Given the description of an element on the screen output the (x, y) to click on. 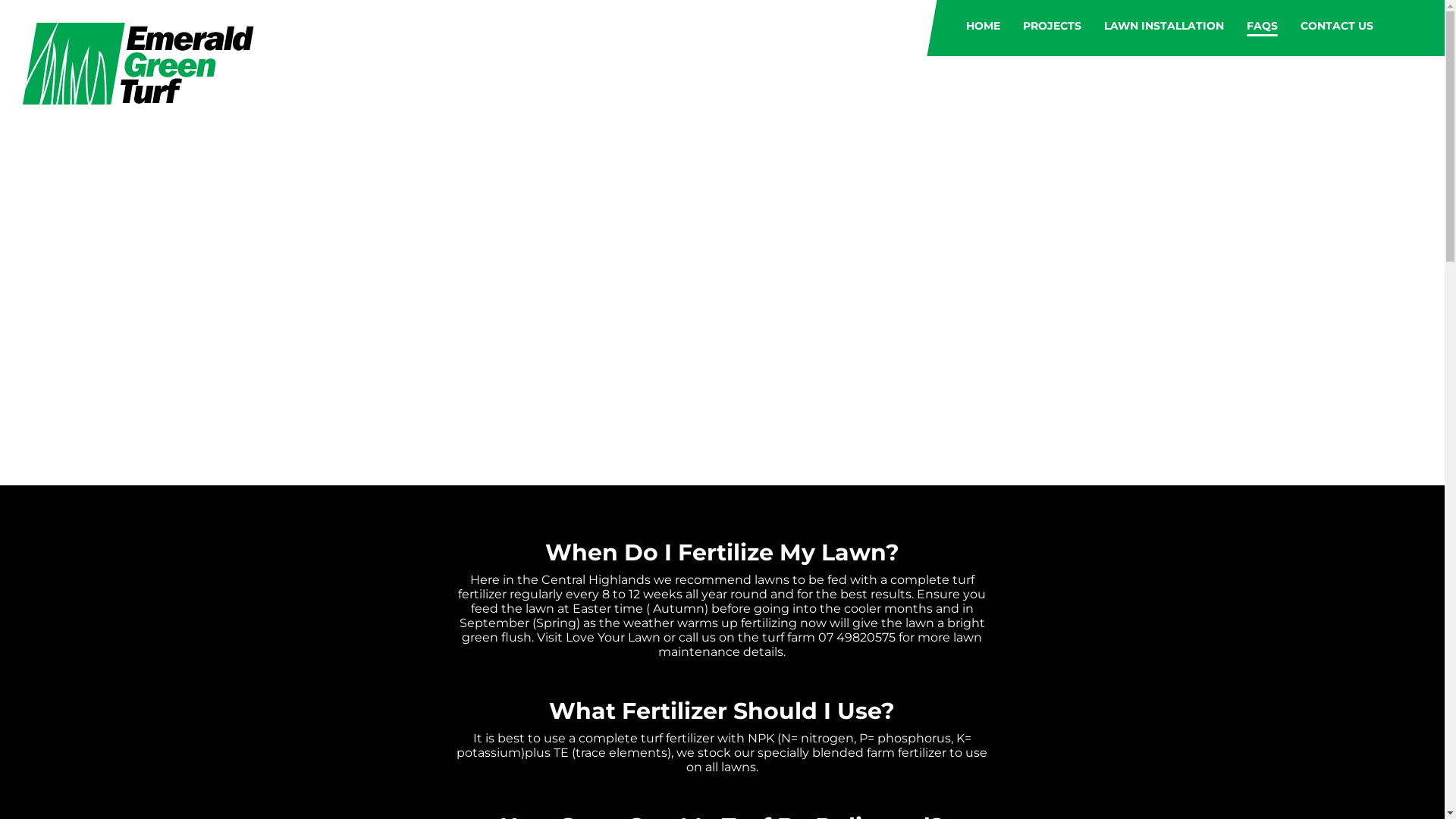
LAWN INSTALLATION Element type: text (1163, 16)
CONTACT US Element type: text (1336, 16)
HOME Element type: text (983, 16)
Turf grown, nurtured & harvested in Emerald Element type: hover (152, 64)
PROJECTS Element type: text (1051, 16)
FAQS Element type: text (1261, 16)
